Given the description of an element on the screen output the (x, y) to click on. 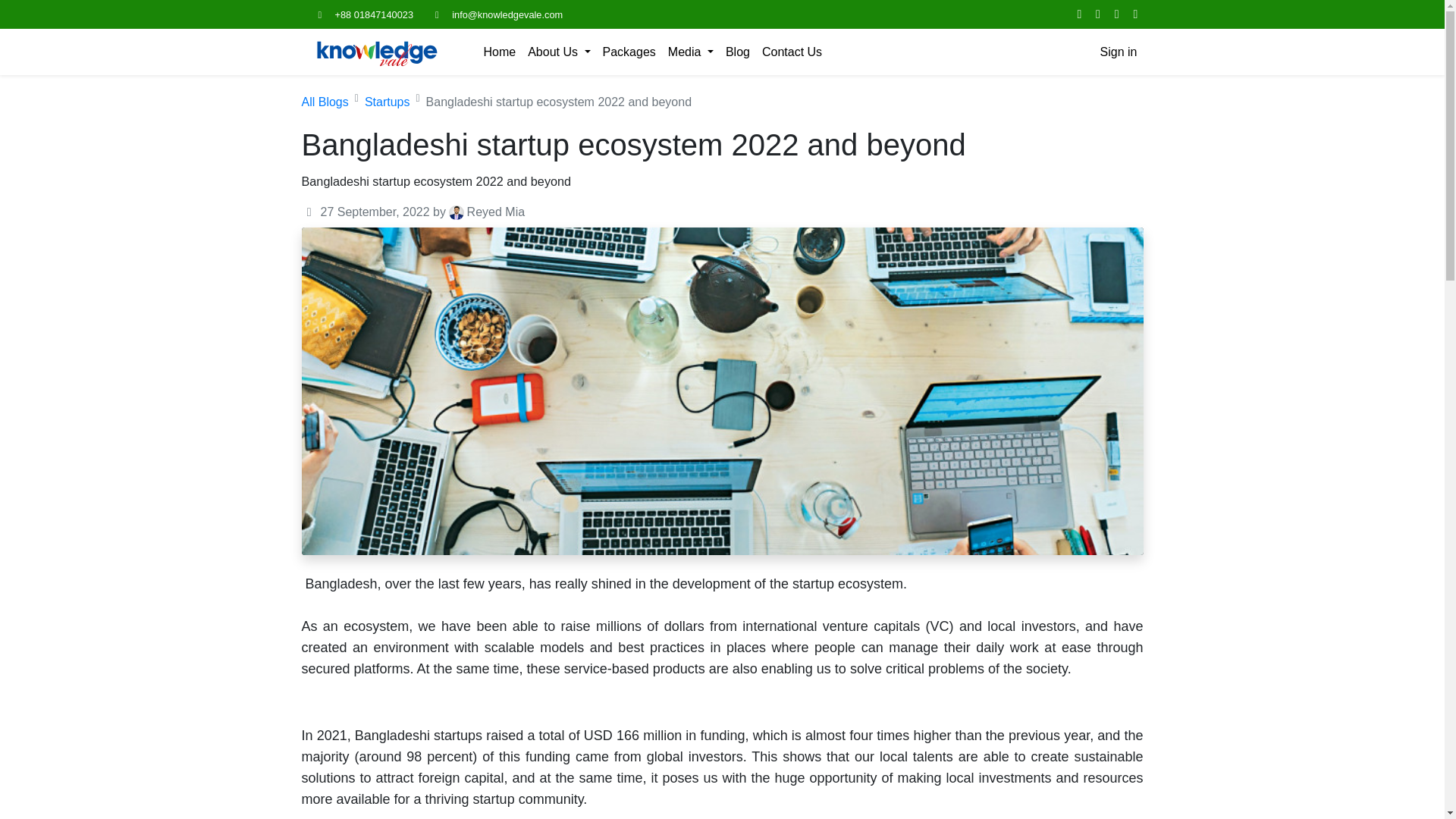
KnowledgeVale (376, 51)
Media (690, 51)
Contact Us (791, 51)
Packages (629, 51)
All Blogs (325, 102)
Startups (387, 102)
Sign in (1118, 51)
About Us (558, 51)
Home (499, 51)
Blog (737, 51)
